Given the description of an element on the screen output the (x, y) to click on. 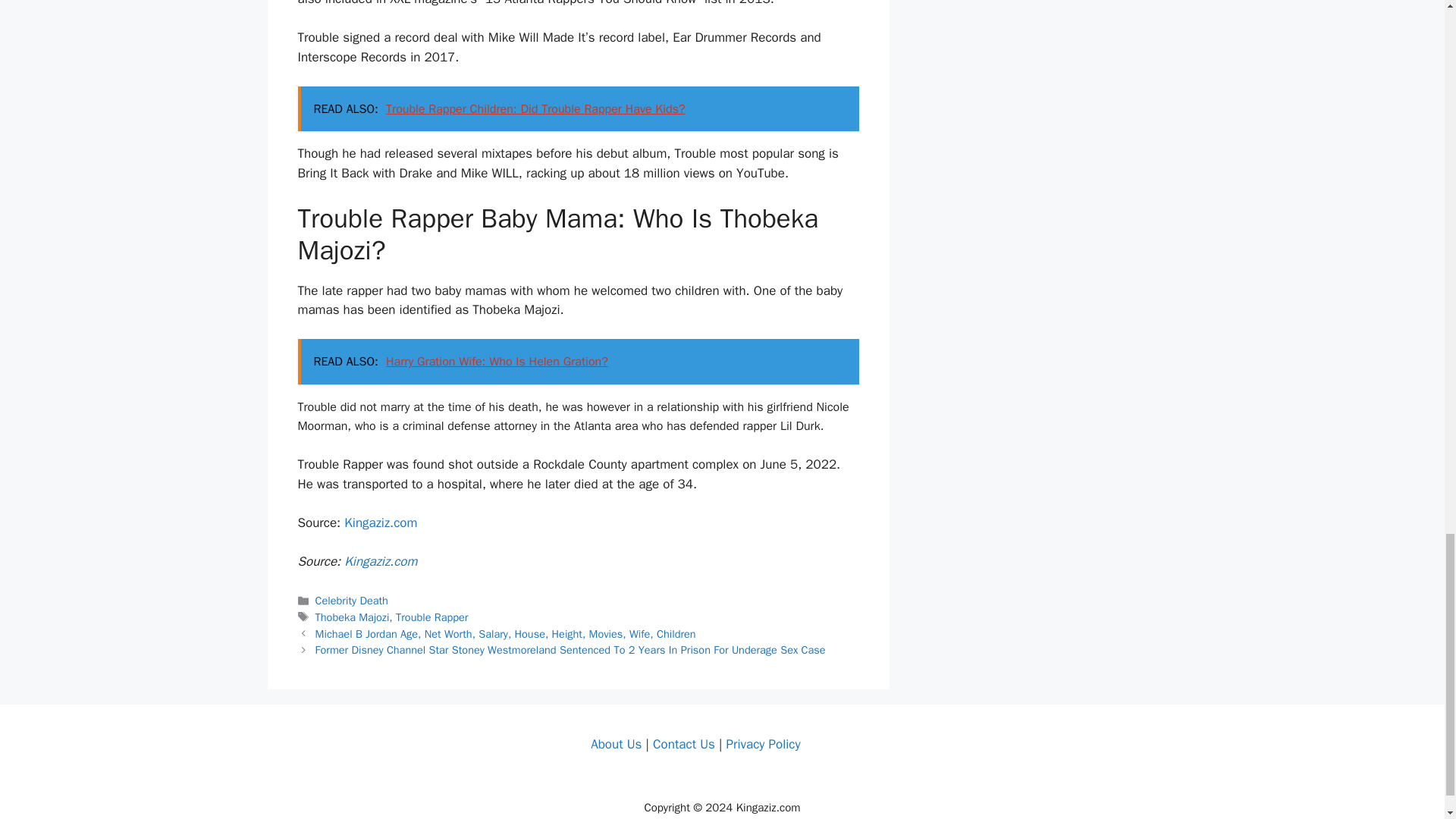
Trouble Rapper (431, 617)
About Us (616, 744)
Privacy Policy (762, 744)
Kingaziz.com (379, 561)
Thobeka Majozi (352, 617)
Celebrity Death (351, 600)
Contact Us (683, 744)
Kingaziz.com (379, 522)
READ ALSO:  Harry Gration Wife: Who Is Helen Gration? (578, 361)
